Given the description of an element on the screen output the (x, y) to click on. 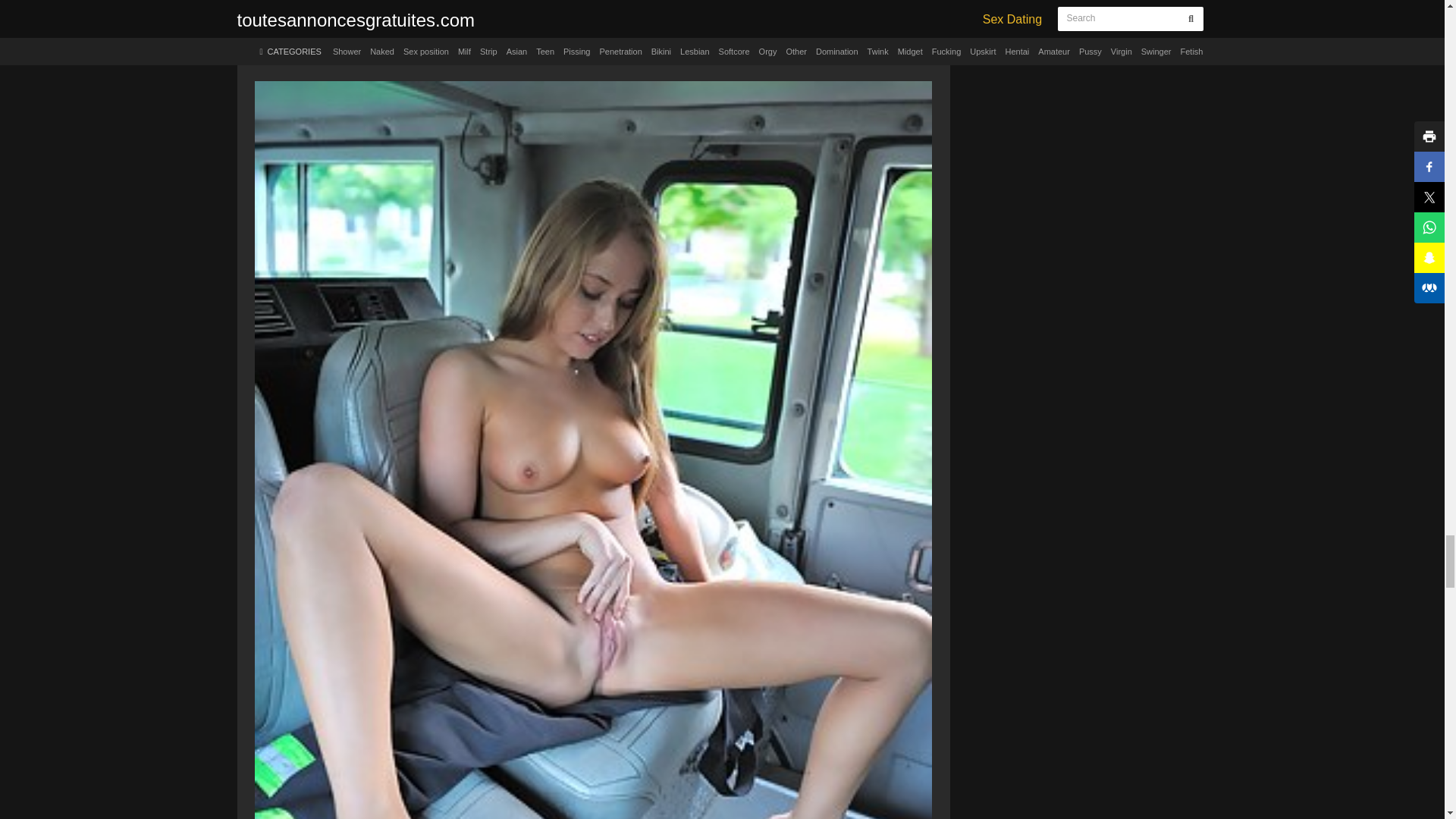
Jenna sucks cock (592, 34)
